Given the description of an element on the screen output the (x, y) to click on. 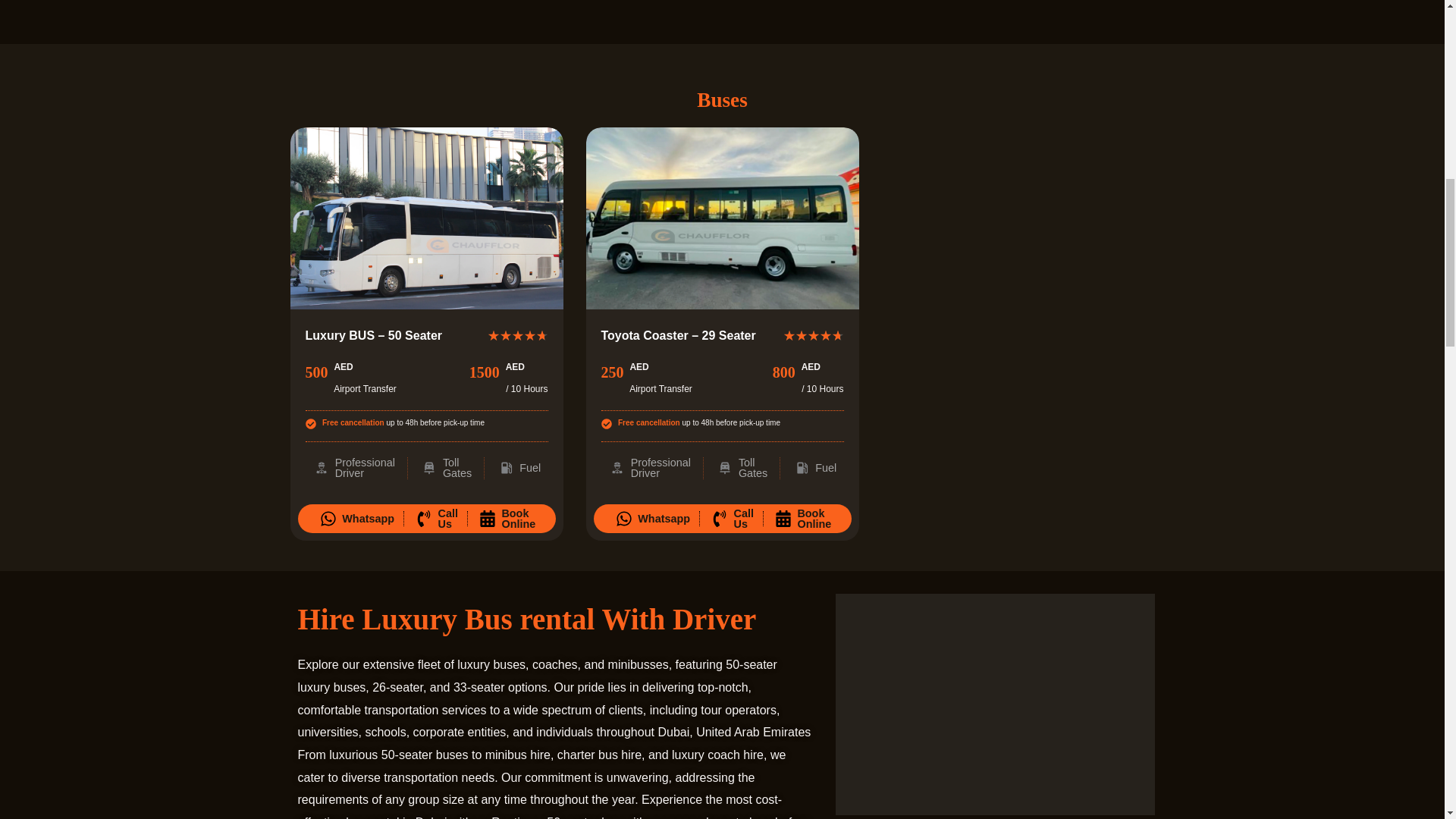
Whatsapp (506, 518)
